Given the description of an element on the screen output the (x, y) to click on. 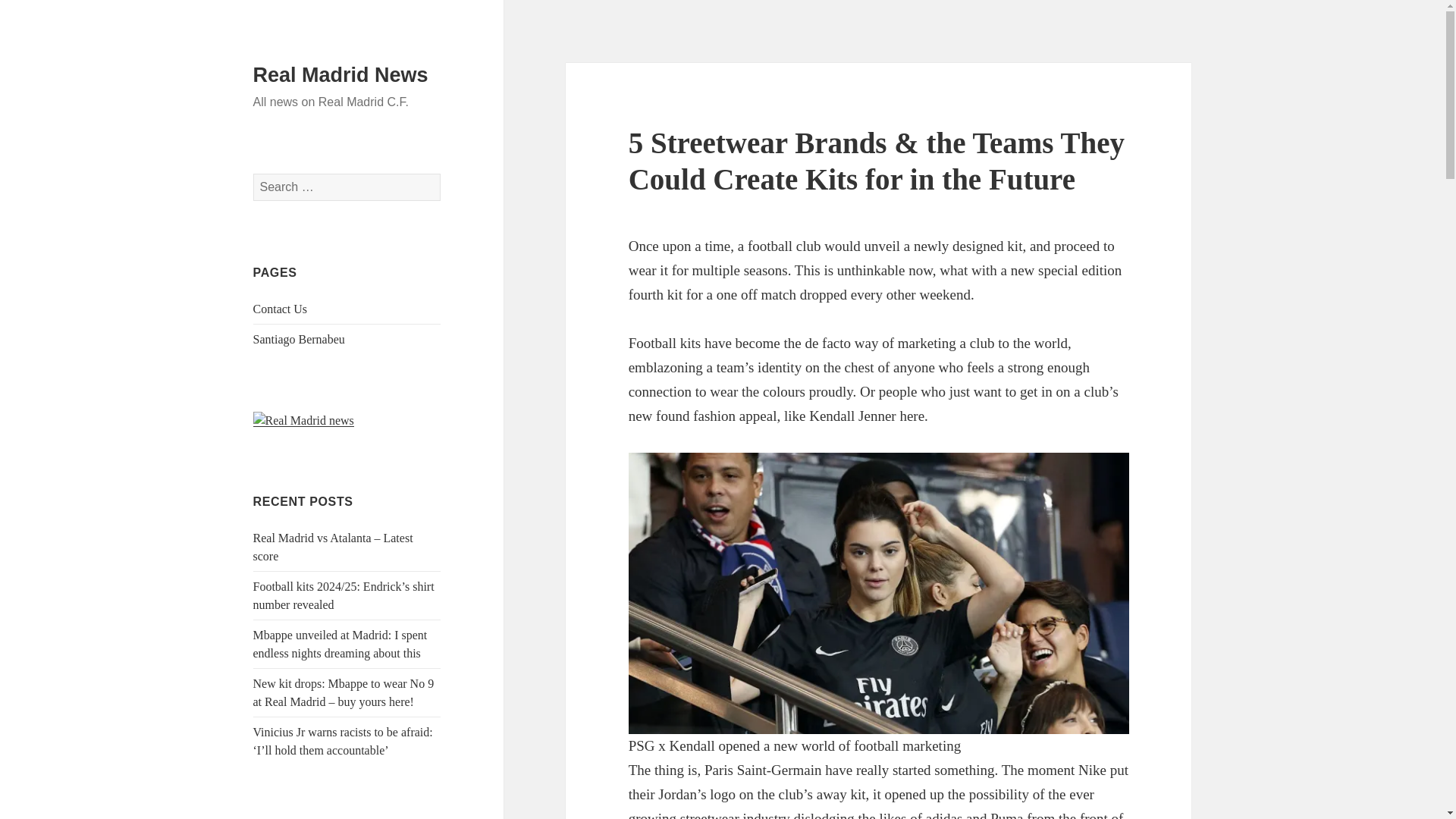
Santiago Bernabeu (299, 338)
Real Madrid News (340, 74)
Contact Us (280, 308)
